Given the description of an element on the screen output the (x, y) to click on. 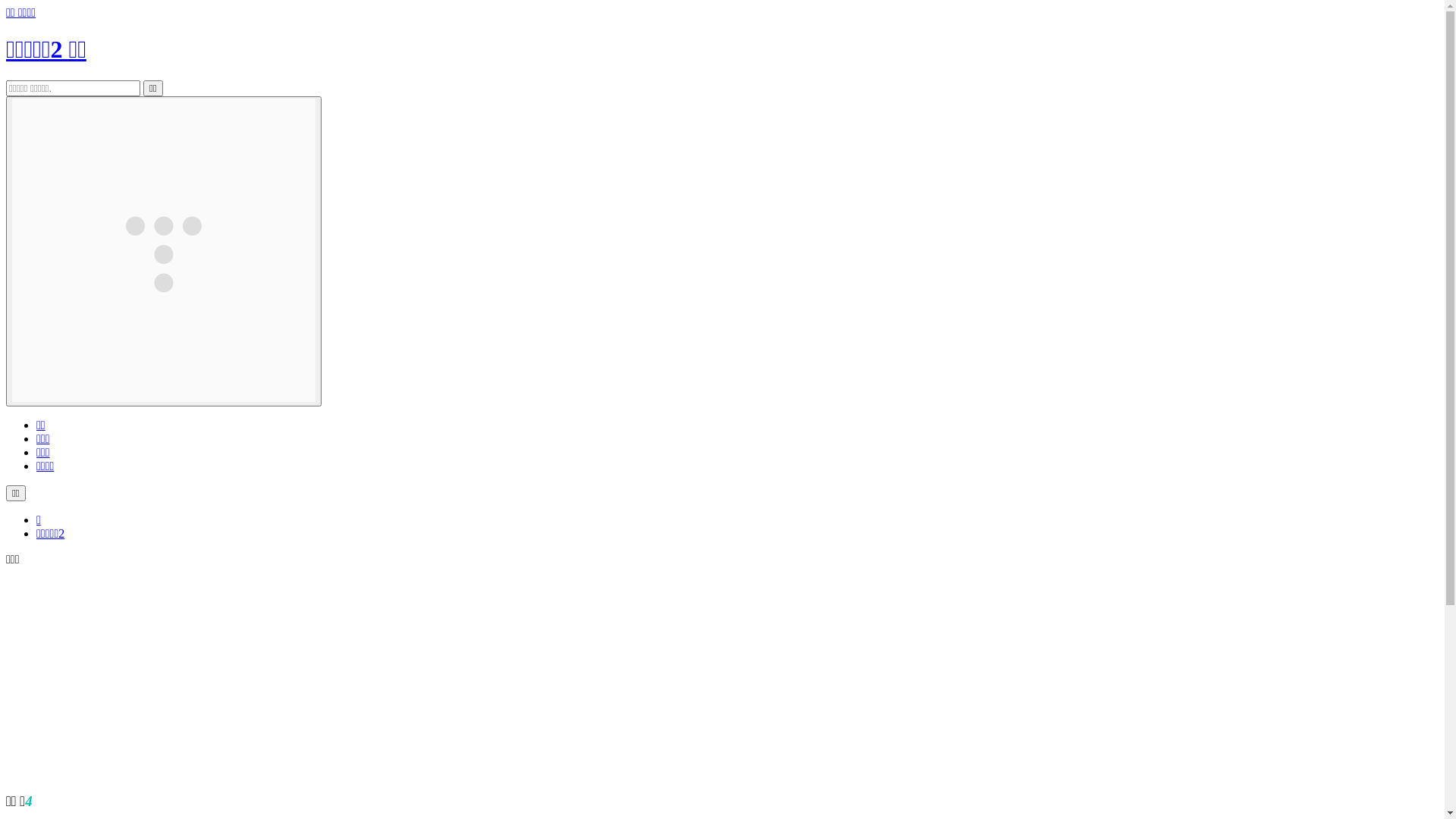
Advertisement Element type: hover (461, 672)
